Given the description of an element on the screen output the (x, y) to click on. 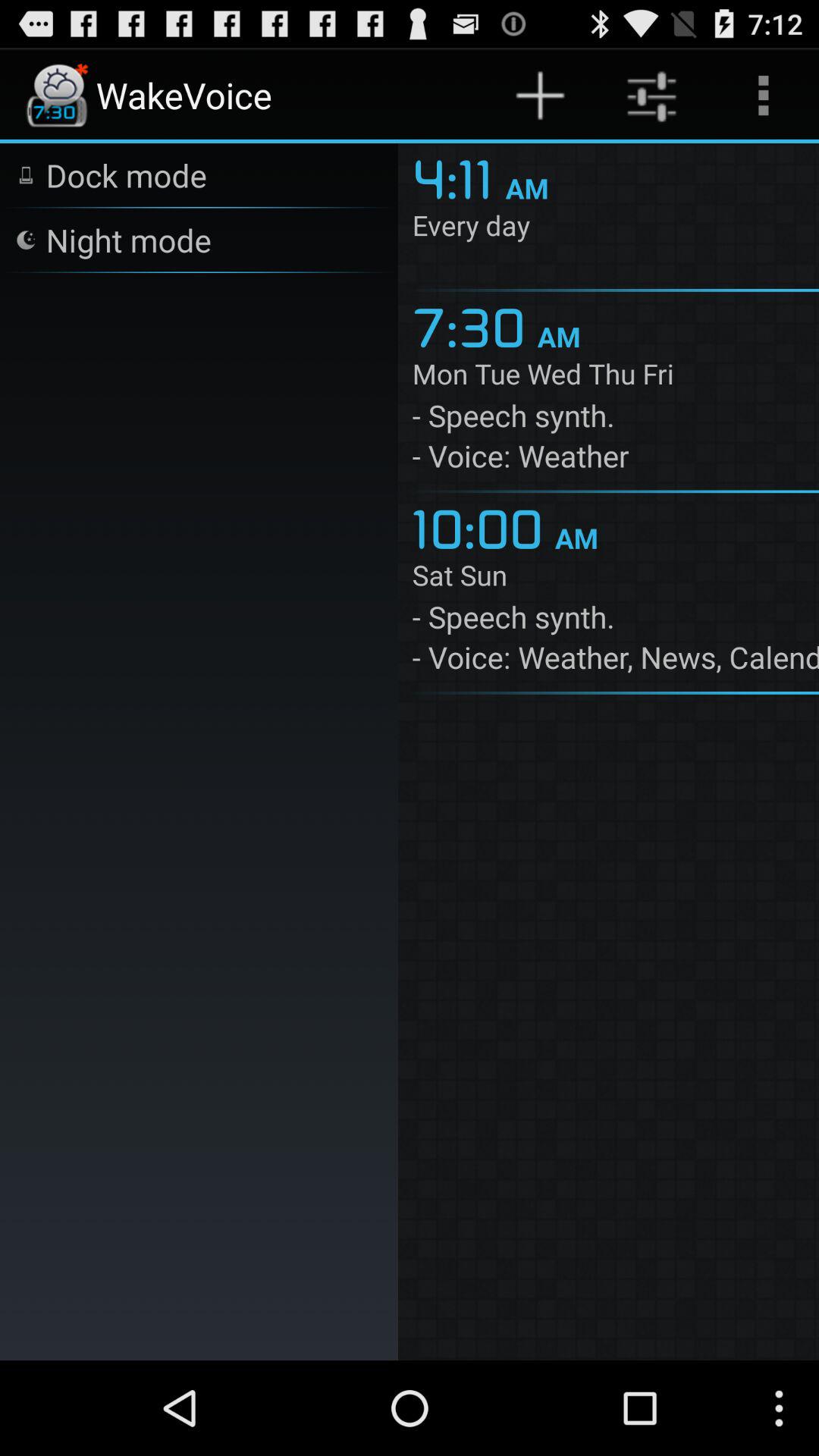
swipe to sat sun app (615, 578)
